Given the description of an element on the screen output the (x, y) to click on. 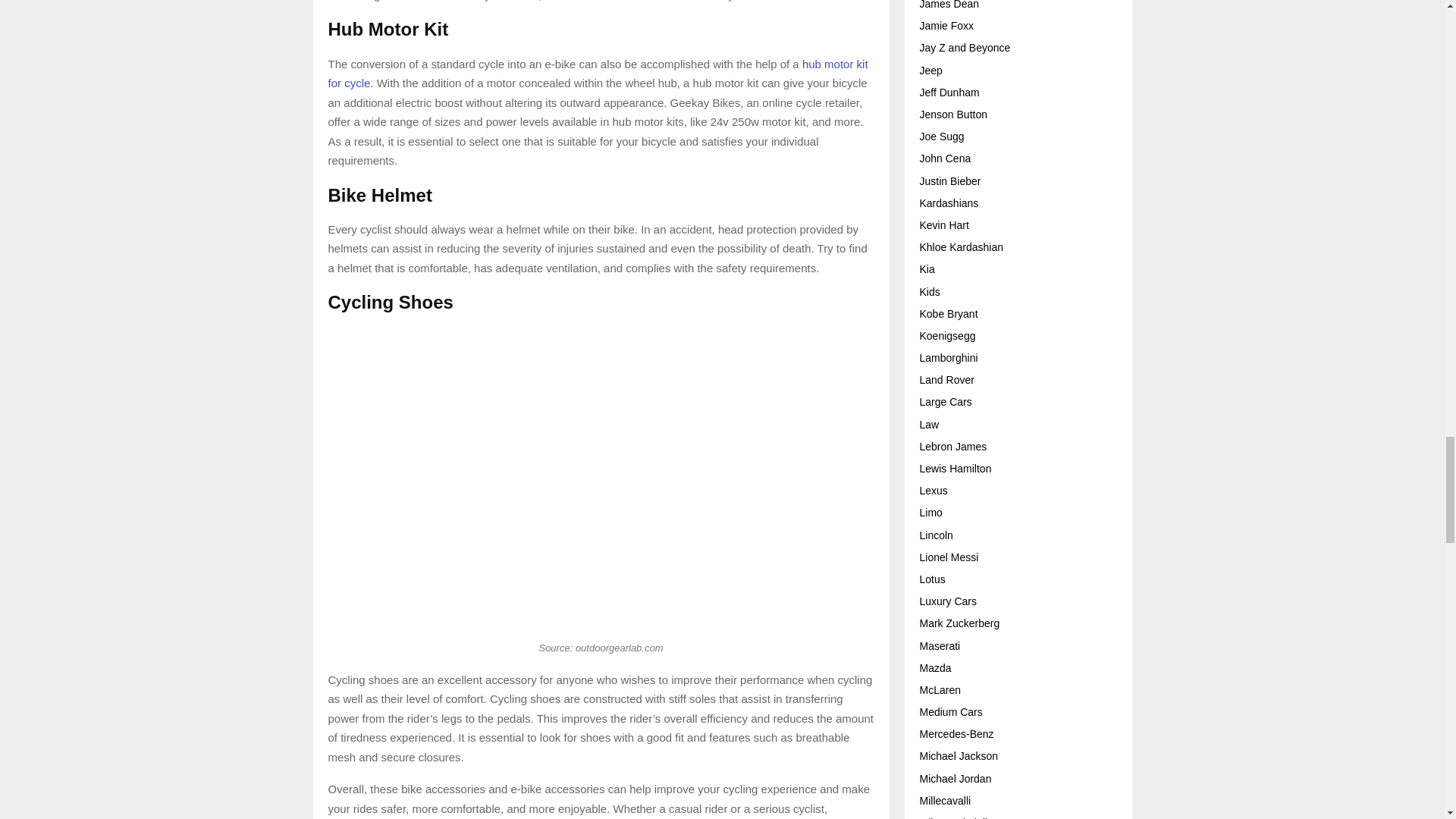
hub motor kit for cycle (597, 73)
